Given the description of an element on the screen output the (x, y) to click on. 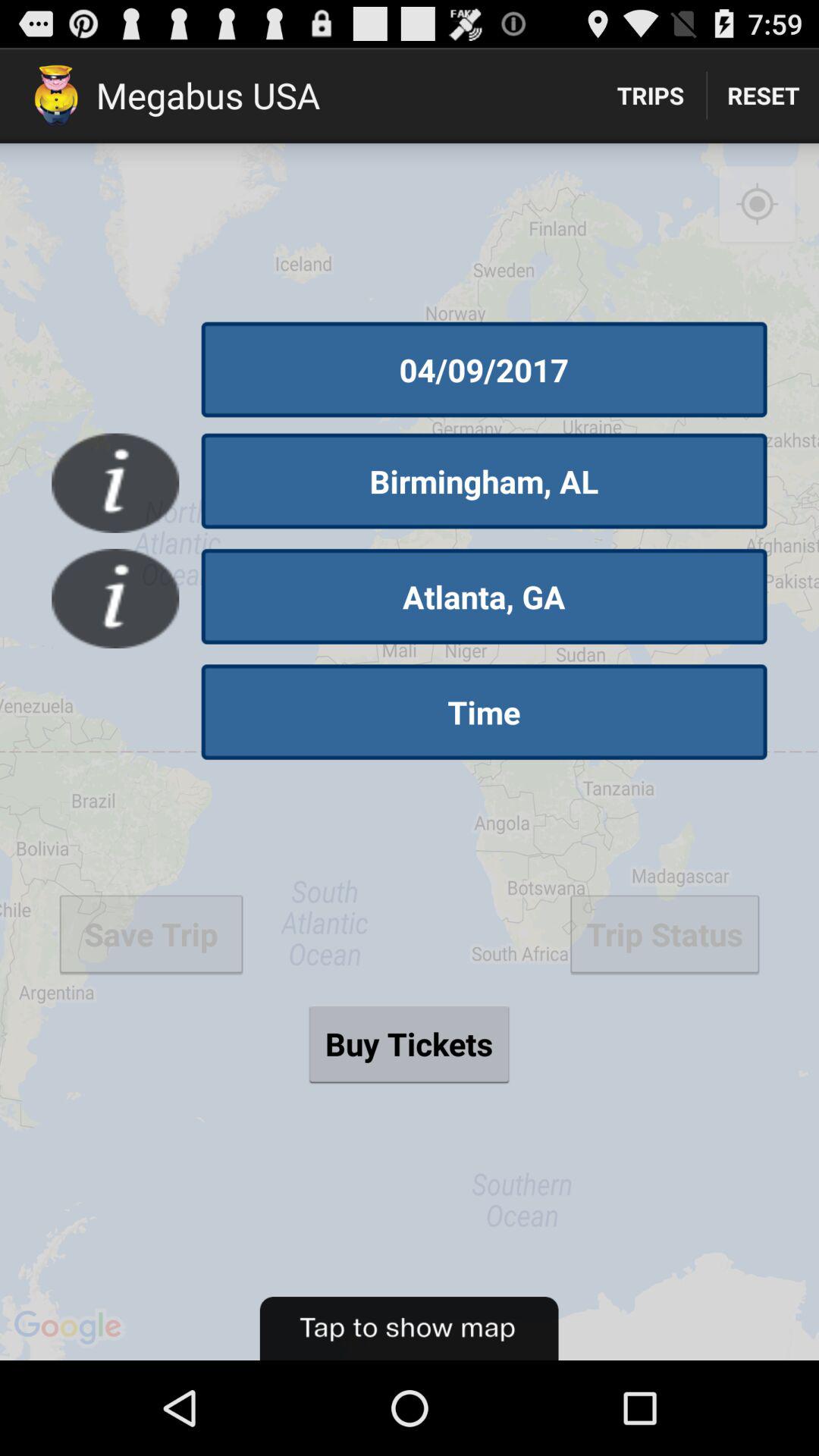
launch the app next to the megabus usa (650, 95)
